Given the description of an element on the screen output the (x, y) to click on. 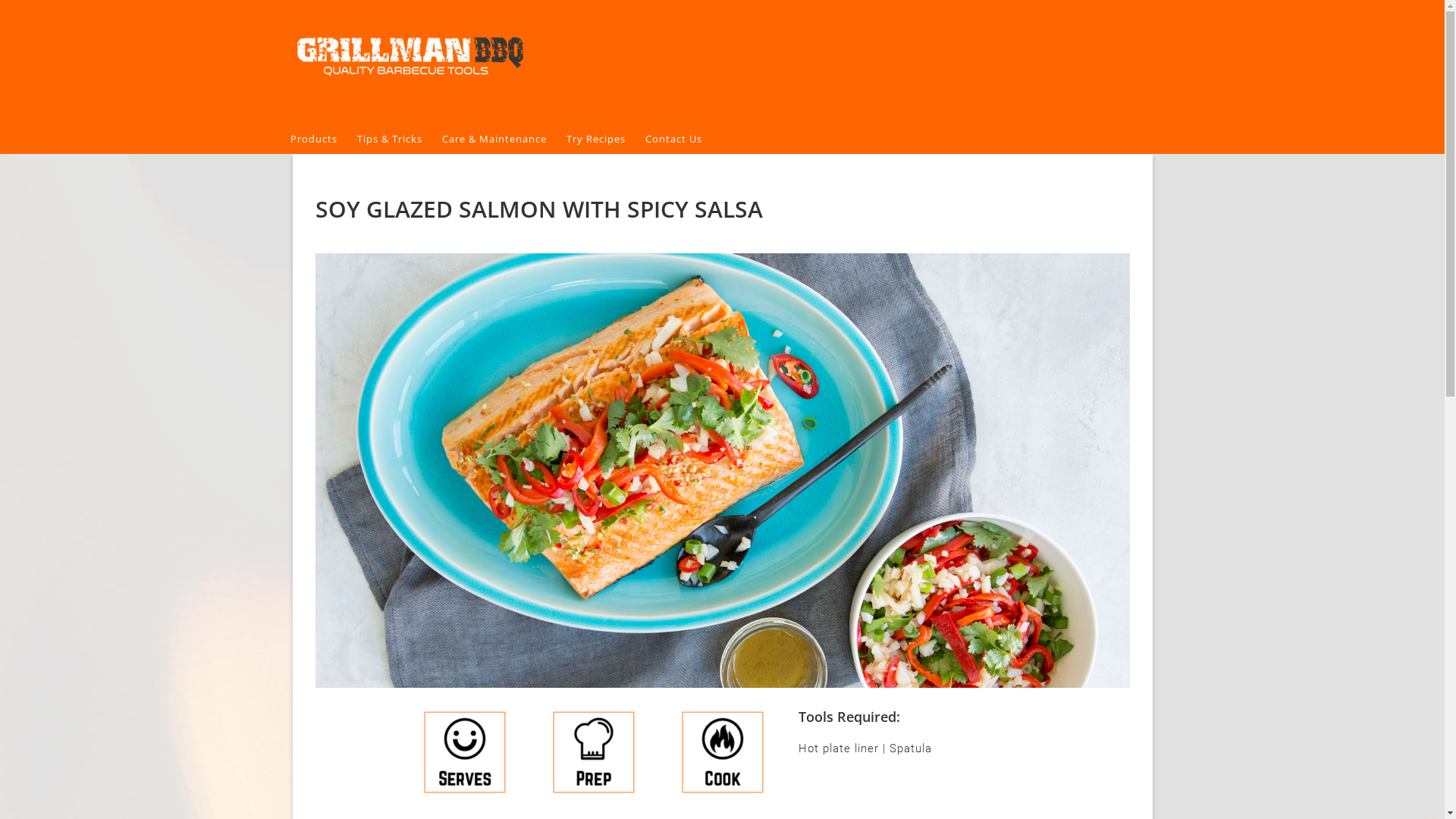
Contact Us Element type: text (682, 138)
Grillman BBQ Tools & Covers Element type: text (721, 62)
Products Element type: text (322, 138)
Try Recipes Element type: text (604, 138)
Tips & Tricks Element type: text (398, 138)
Care & Maintenance Element type: text (503, 138)
